Given the description of an element on the screen output the (x, y) to click on. 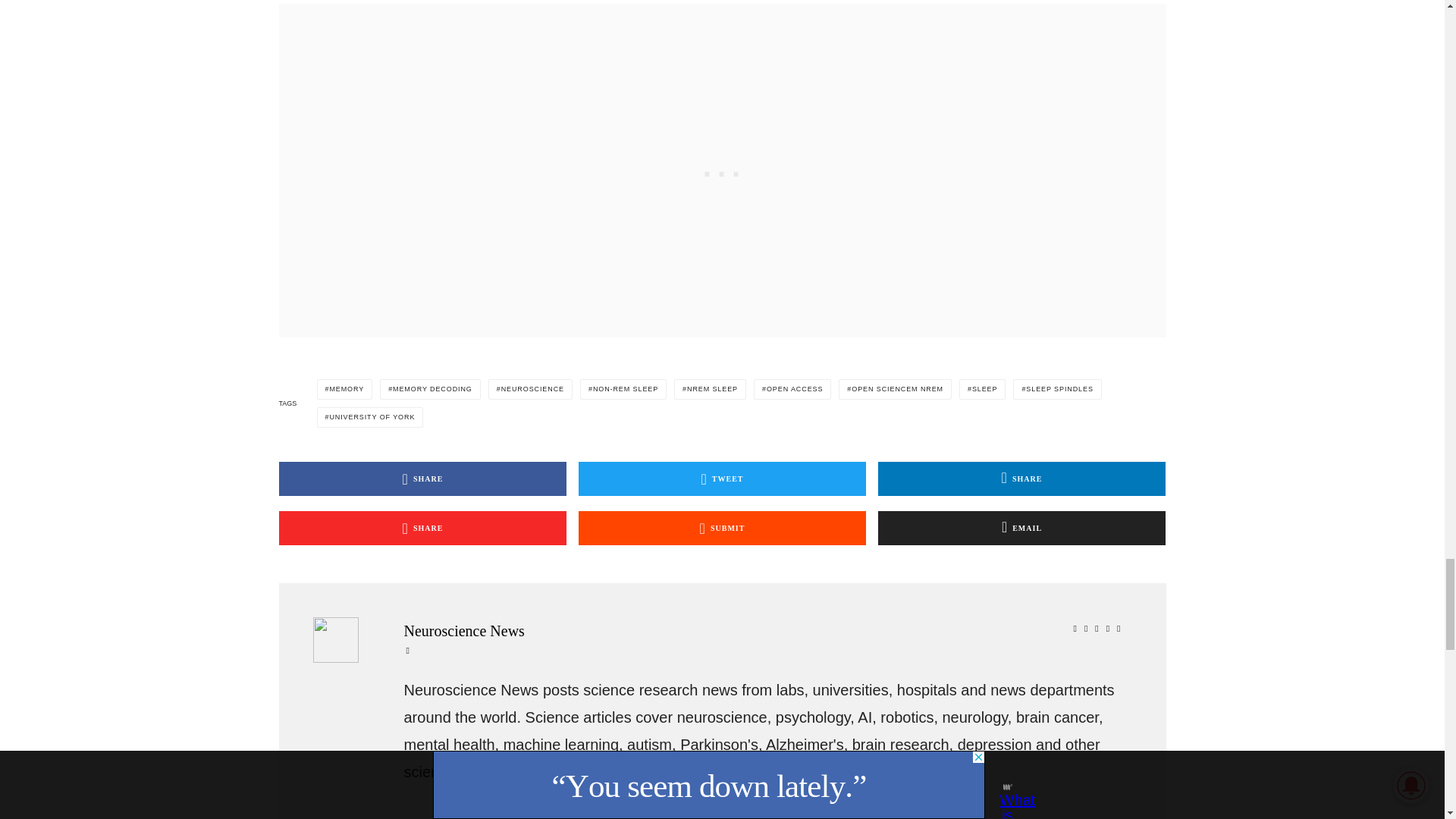
NEUROSCIENCE (529, 389)
MEMORY (344, 389)
SHARE (423, 478)
UNIVERSITY OF YORK (370, 417)
TWEET (722, 478)
MEMORY DECODING (430, 389)
OPEN SCIENCEM NREM (895, 389)
SLEEP (982, 389)
SHARE (423, 528)
Neuroscience News (764, 630)
NREM SLEEP (709, 389)
SUBMIT (722, 528)
OPEN ACCESS (792, 389)
SHARE (1021, 478)
NON-REM SLEEP (622, 389)
